Given the description of an element on the screen output the (x, y) to click on. 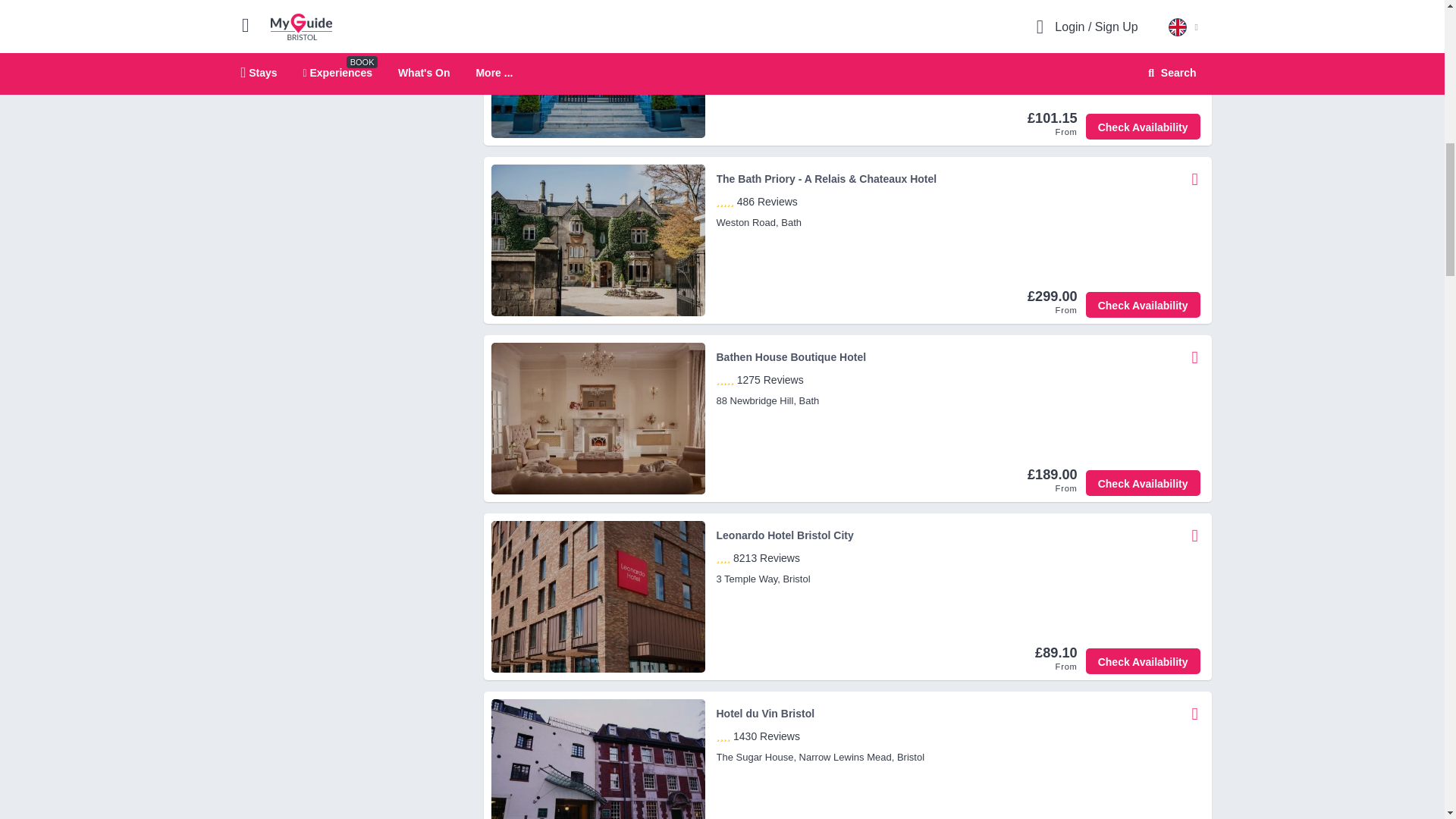
Add to My Guide (1195, 7)
